Given the description of an element on the screen output the (x, y) to click on. 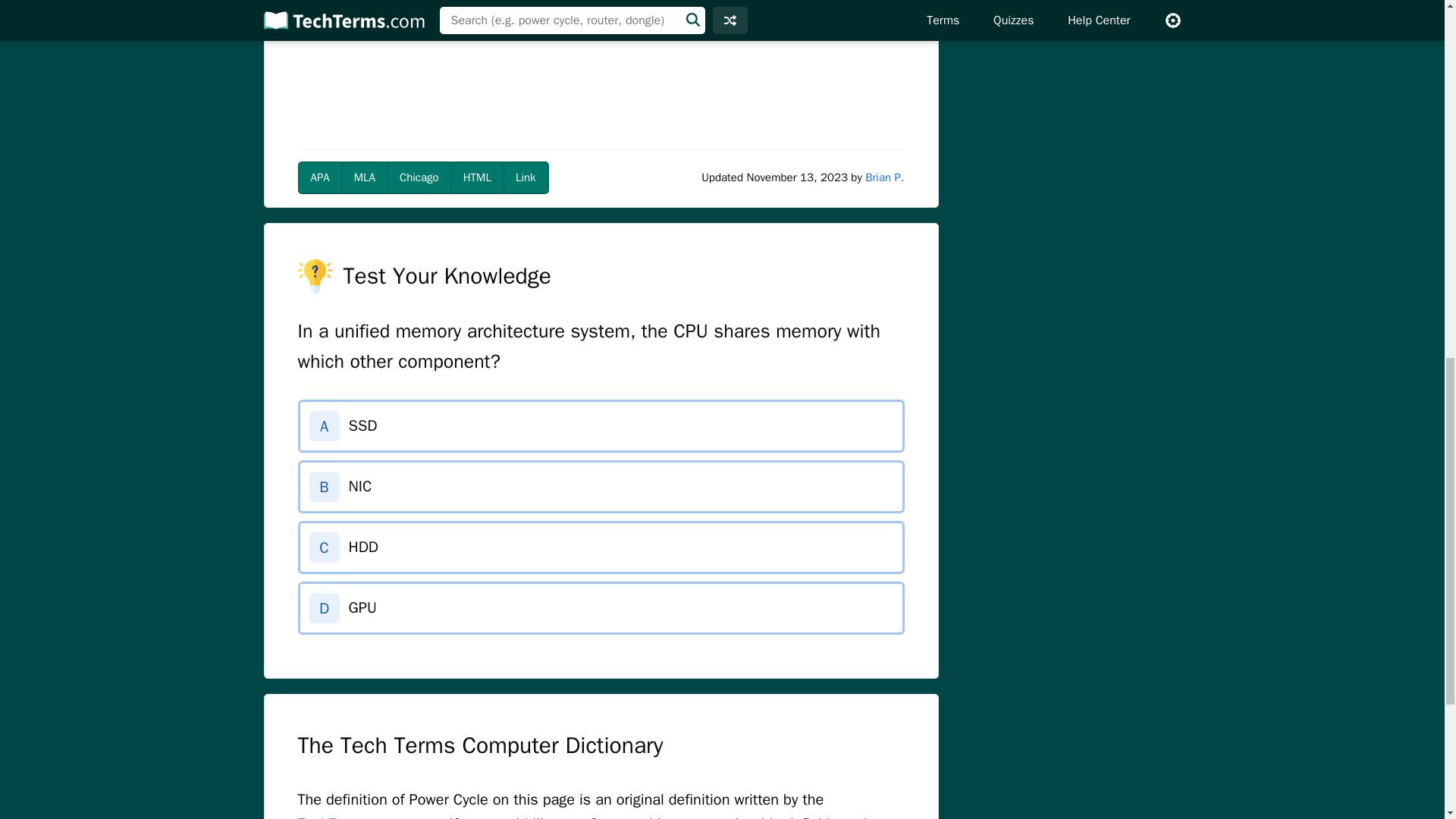
HTML (475, 177)
Chicago (418, 177)
APA (319, 177)
file (642, 7)
Link (524, 177)
MLA (363, 177)
Brian P. (884, 177)
